Given the description of an element on the screen output the (x, y) to click on. 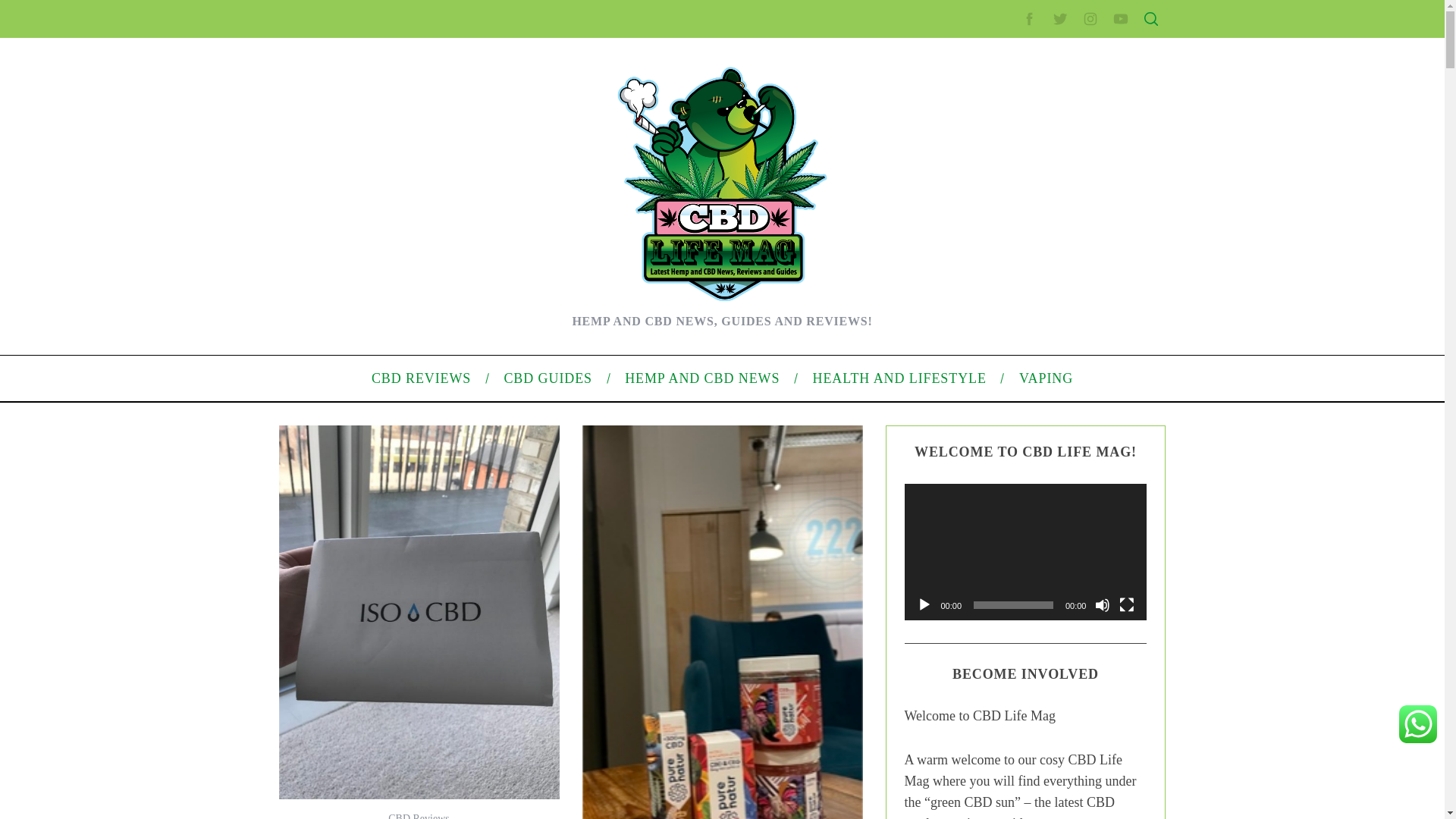
Disclaimer (990, 354)
Contact Us (991, 258)
Search for: (1049, 47)
Search (1050, 85)
Customer Reviews (365, 322)
Joy On Demand: The Art Of Discovering The Happiness Within (469, 273)
Terms of Use (996, 330)
ADMINISTRATOR (417, 81)
Log in (980, 588)
Am Joy (339, 514)
Skip to content (34, 9)
DMCA Policy (996, 282)
The Dark Yorkshire Series: Books 4 To 6 (416, 250)
About The Author (362, 370)
